Given the description of an element on the screen output the (x, y) to click on. 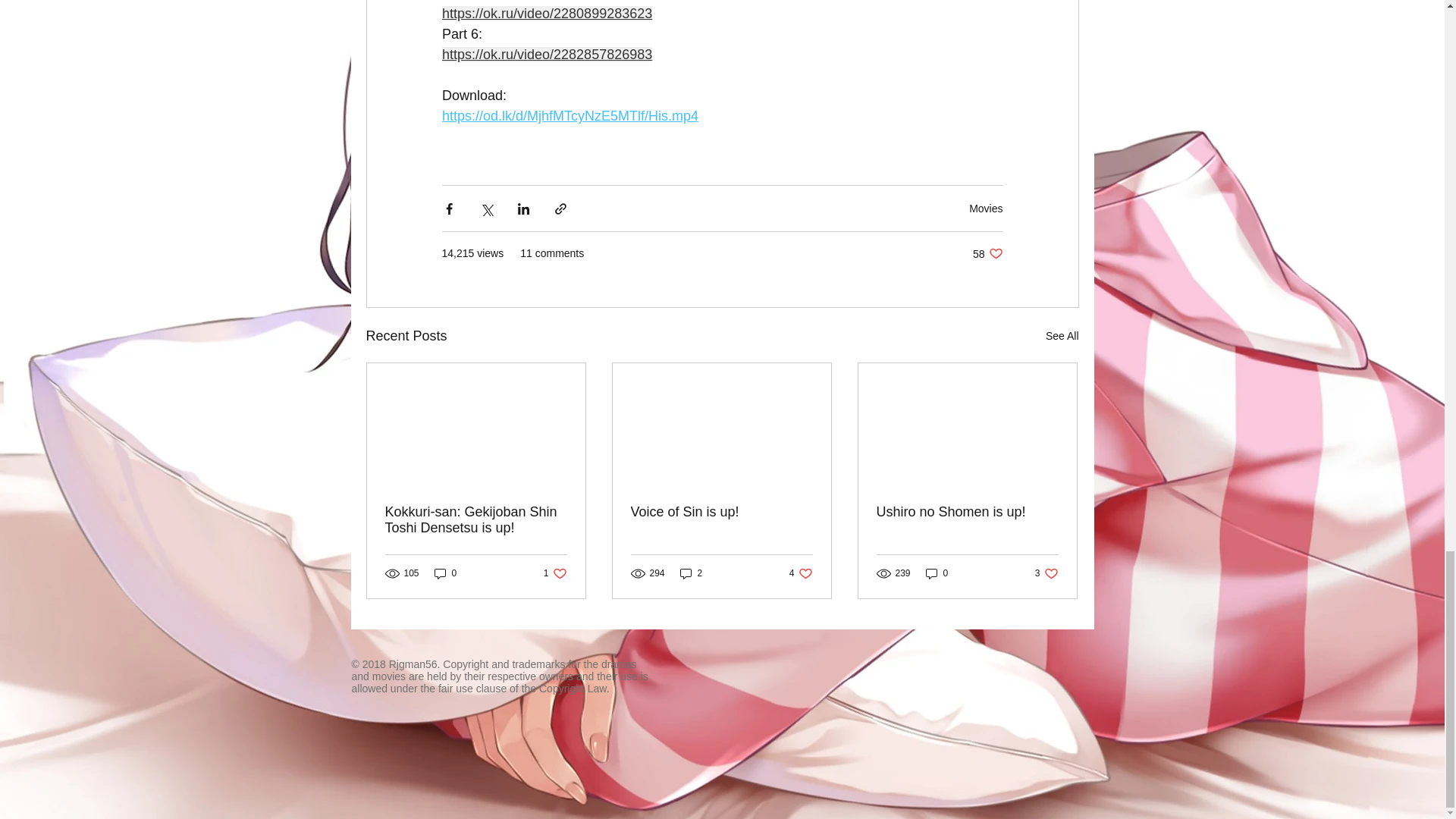
See All (1061, 336)
Ushiro no Shomen is up! (967, 512)
0 (445, 573)
0 (937, 573)
Voice of Sin is up! (800, 573)
Kokkuri-san: Gekijoban Shin Toshi Densetsu is up! (721, 512)
2 (1046, 573)
Movies (555, 573)
